Given the description of an element on the screen output the (x, y) to click on. 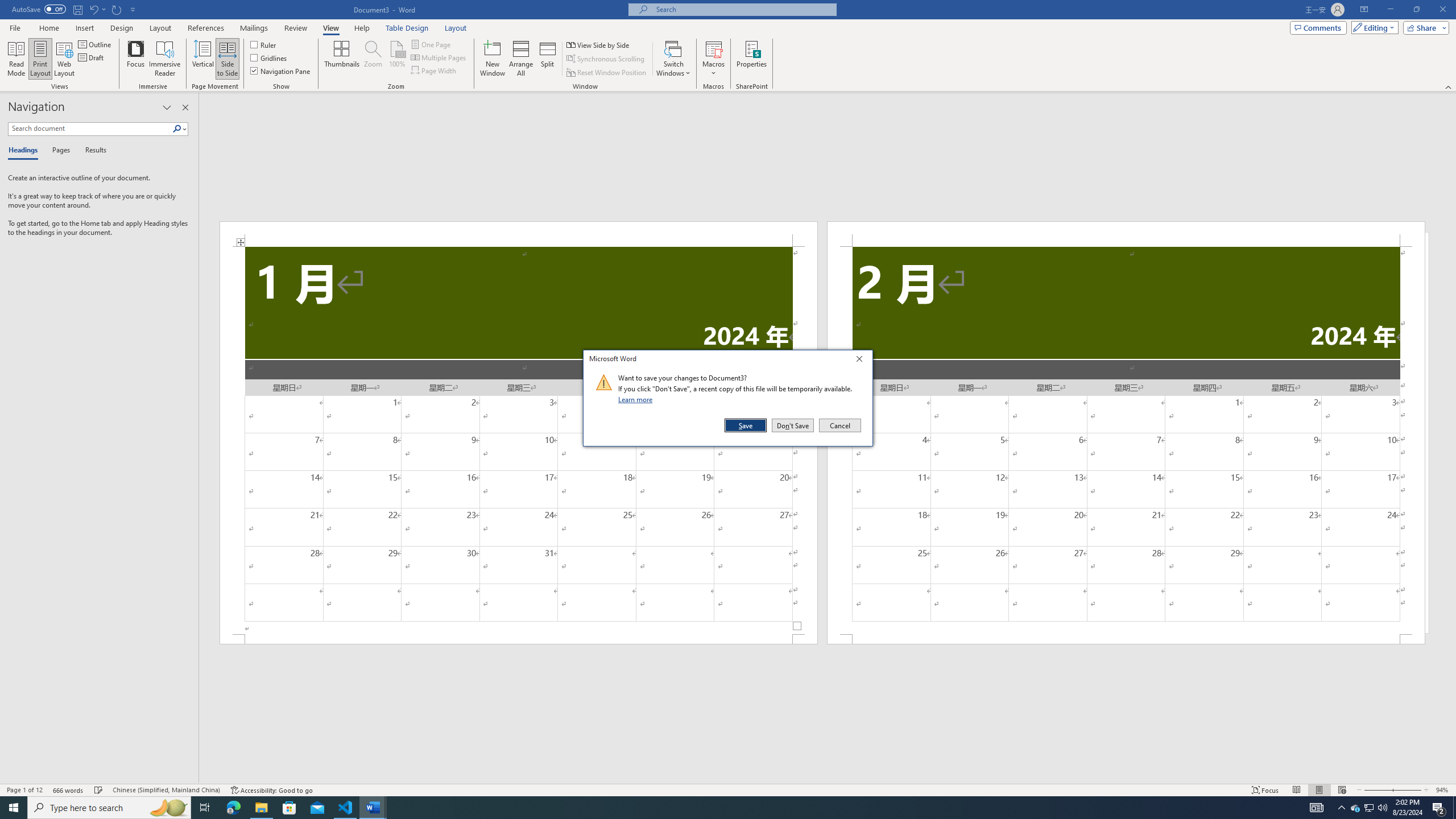
Results (91, 150)
Synchronous Scrolling (605, 58)
Header -Section 1- (518, 233)
Search document (89, 128)
Split (547, 58)
New Window (492, 58)
Outline (95, 44)
Footer -Section 2- (1126, 638)
Spelling and Grammar Check Checking (98, 790)
Running applications (717, 807)
Learn more (636, 399)
